Given the description of an element on the screen output the (x, y) to click on. 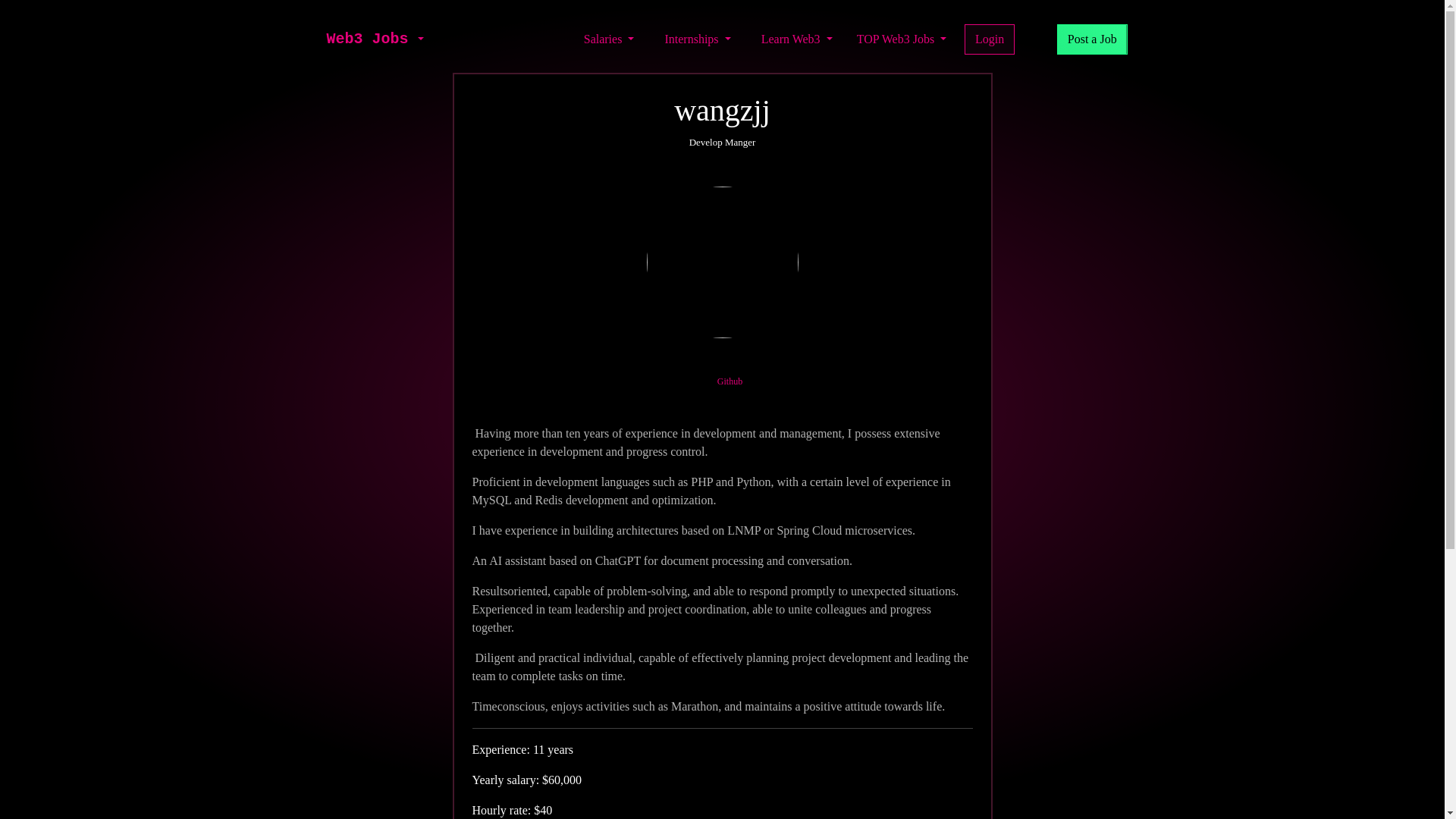
Internships (697, 39)
Salaries (609, 39)
Learn Web3 (796, 39)
Web3 Jobs (366, 39)
